Given the description of an element on the screen output the (x, y) to click on. 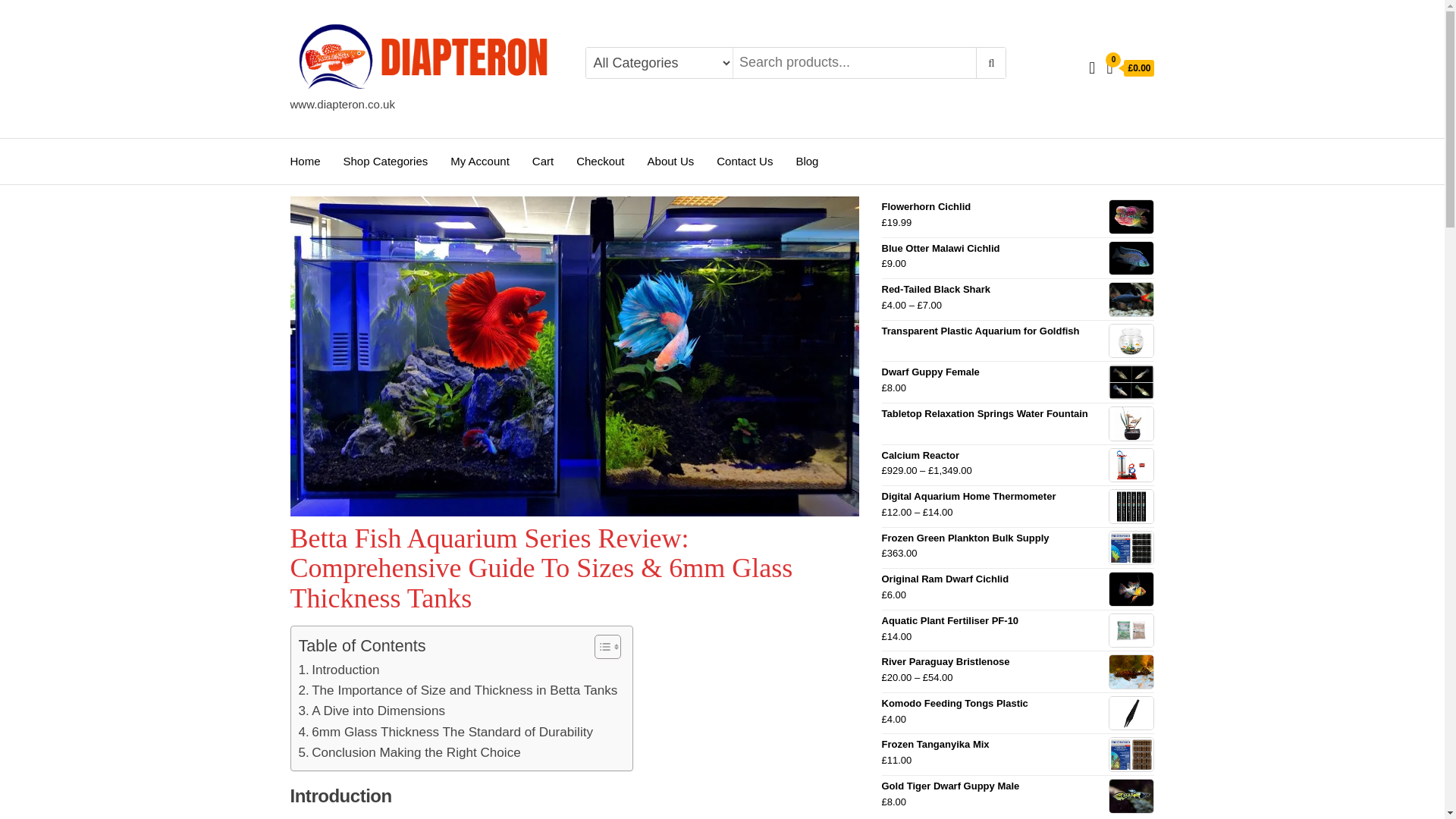
Introduction (339, 670)
Contact Us (744, 161)
Diapteron Shop (338, 116)
My Account (480, 161)
Cart (542, 161)
Shop Categories (385, 161)
About Us (671, 161)
Home (305, 161)
Conclusion Making the Right Choice (409, 752)
Checkout (599, 161)
Checkout (599, 161)
Introduction (339, 670)
My Account (480, 161)
Cart (542, 161)
Shop Categories (385, 161)
